Given the description of an element on the screen output the (x, y) to click on. 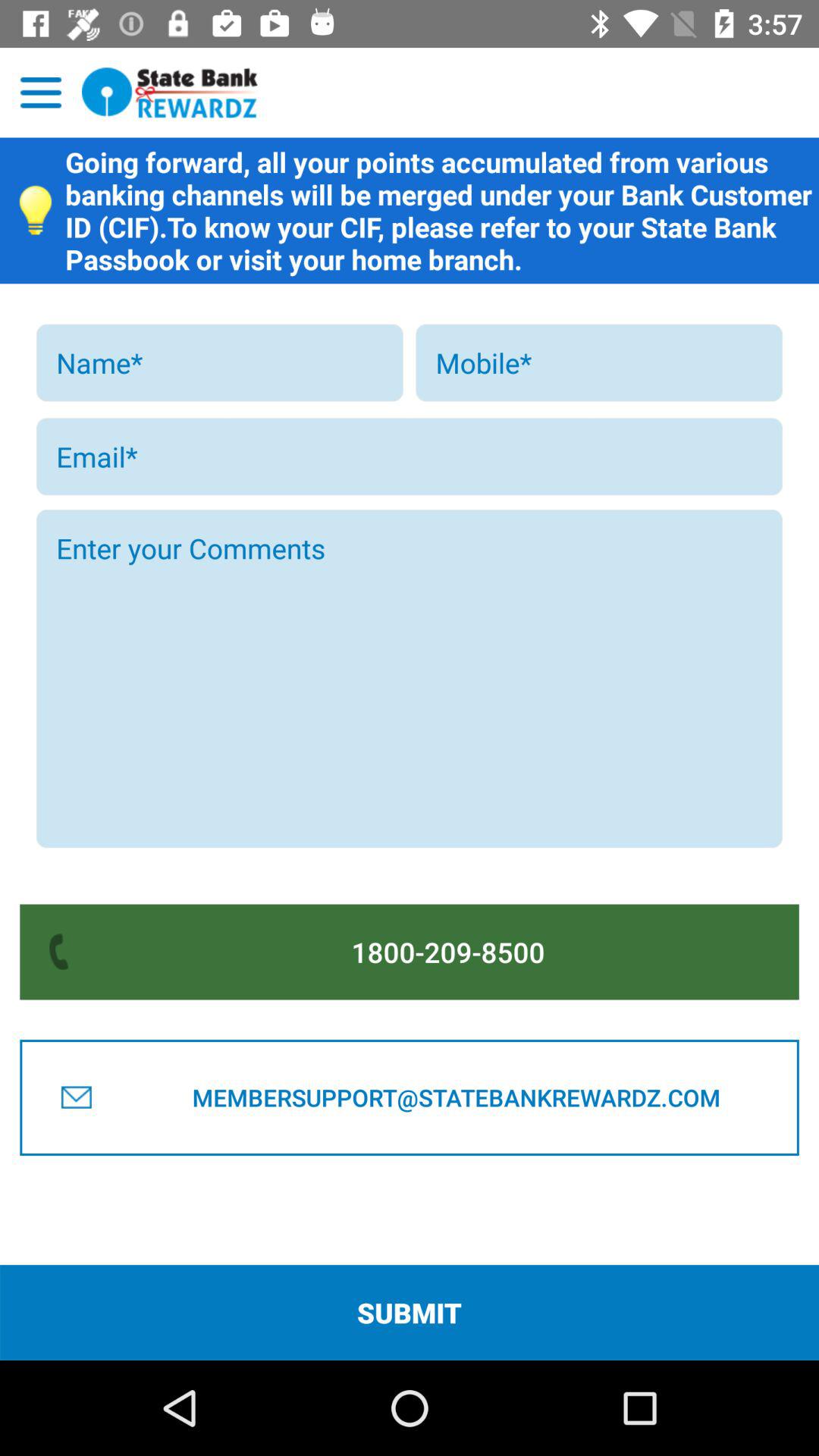
type comments (409, 678)
